Given the description of an element on the screen output the (x, y) to click on. 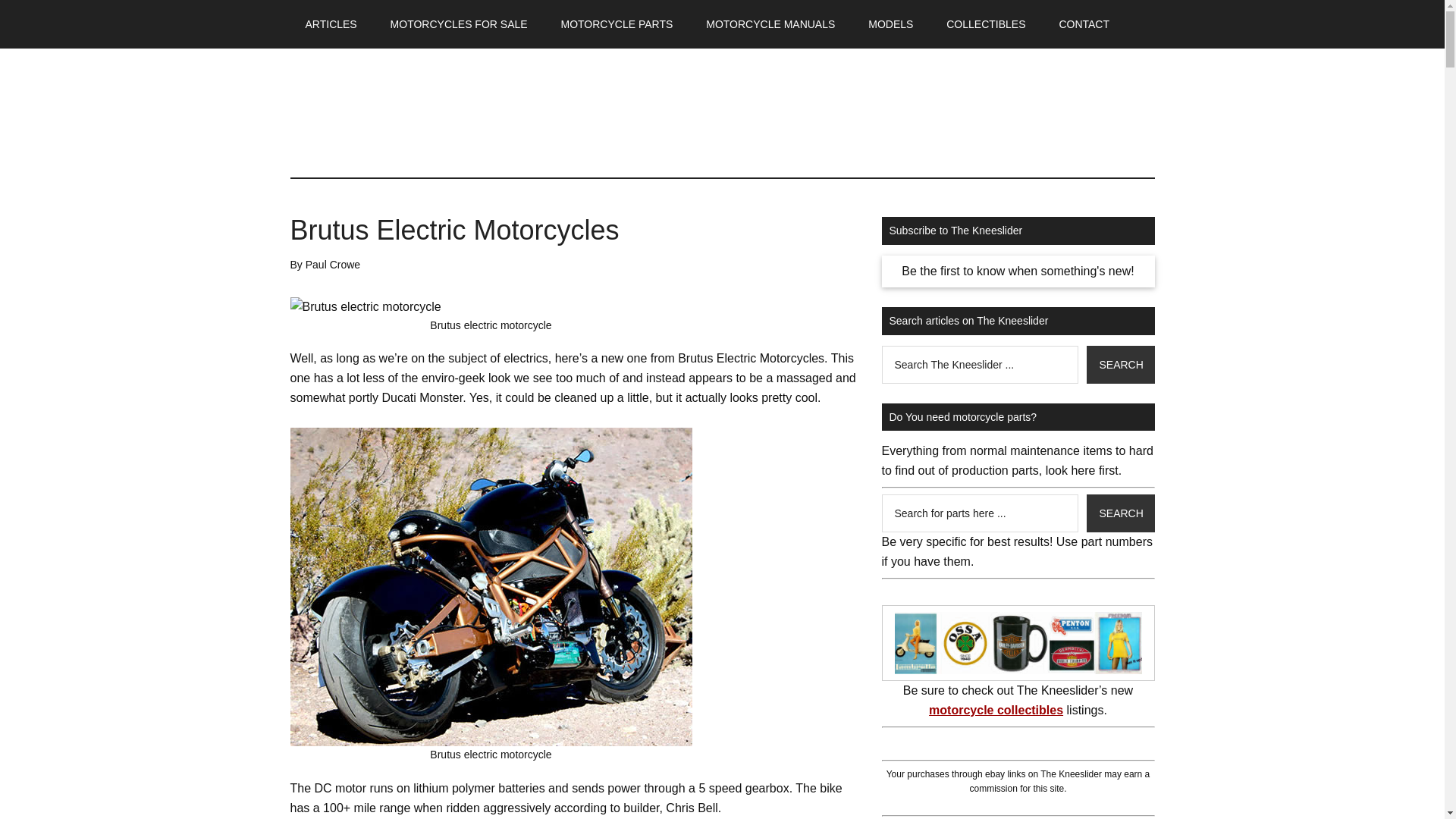
ARTICLES (330, 24)
MOTORCYCLE PARTS (617, 24)
Search (1120, 513)
Search (1120, 364)
Brutus electric motorcycle (490, 586)
MOTORCYCLES FOR SALE (459, 24)
CONTACT (1083, 24)
The Kneeslider (433, 112)
COLLECTIBLES (986, 24)
Search (1120, 513)
Brutus electric motorcycle (365, 306)
Search (1120, 364)
MOTORCYCLE MANUALS (770, 24)
MODELS (890, 24)
Contact The Kneeslider (1083, 24)
